Given the description of an element on the screen output the (x, y) to click on. 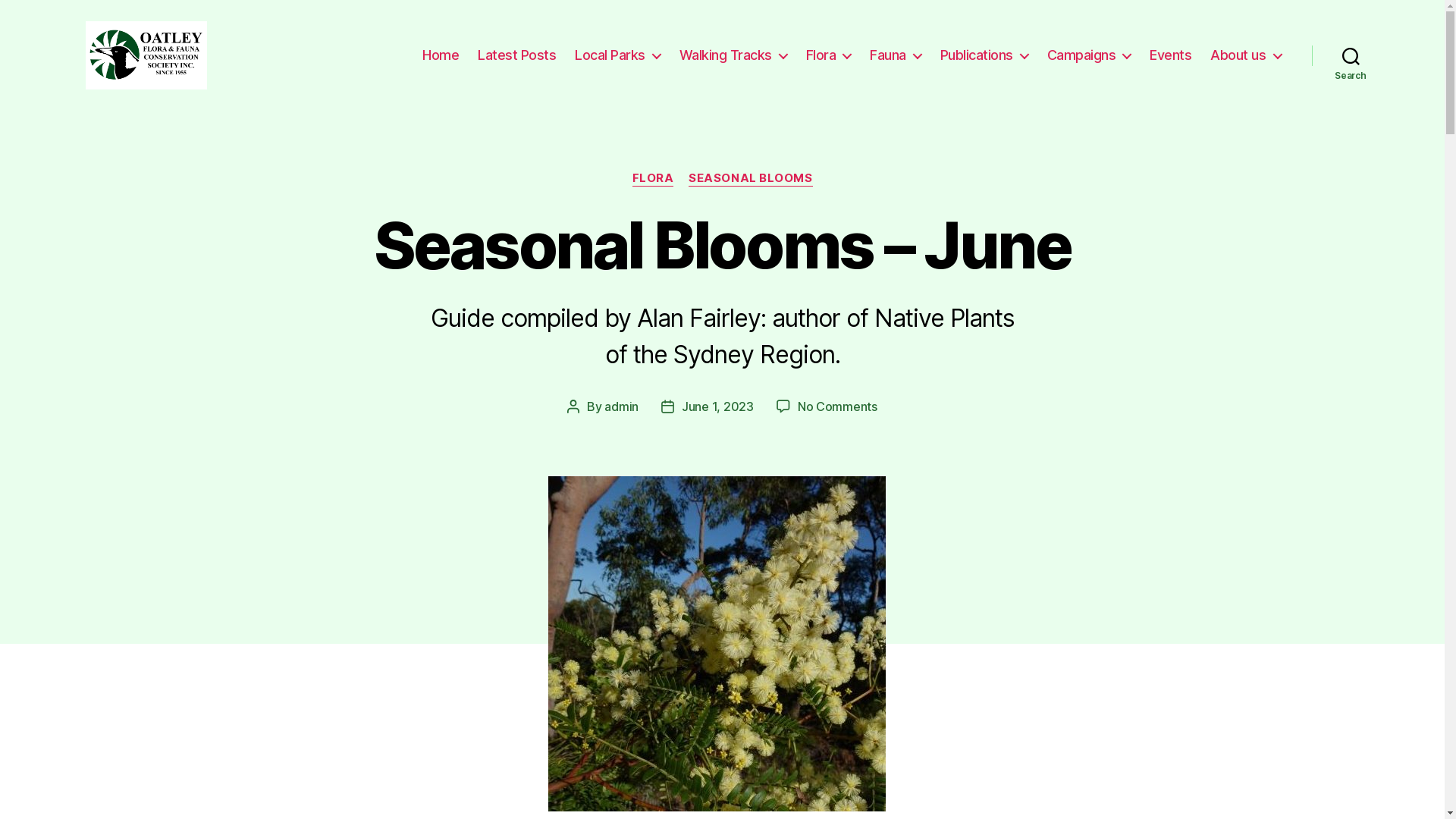
Fauna Element type: text (895, 55)
June 1, 2023 Element type: text (717, 406)
Flora Element type: text (828, 55)
Latest Posts Element type: text (516, 55)
Home Element type: text (440, 55)
Search Element type: text (1350, 55)
admin Element type: text (621, 406)
FLORA Element type: text (653, 178)
Events Element type: text (1170, 55)
SEASONAL BLOOMS Element type: text (750, 178)
Publications Element type: text (984, 55)
About us Element type: text (1245, 55)
Walking Tracks Element type: text (733, 55)
Local Parks Element type: text (617, 55)
Campaigns Element type: text (1089, 55)
